Given the description of an element on the screen output the (x, y) to click on. 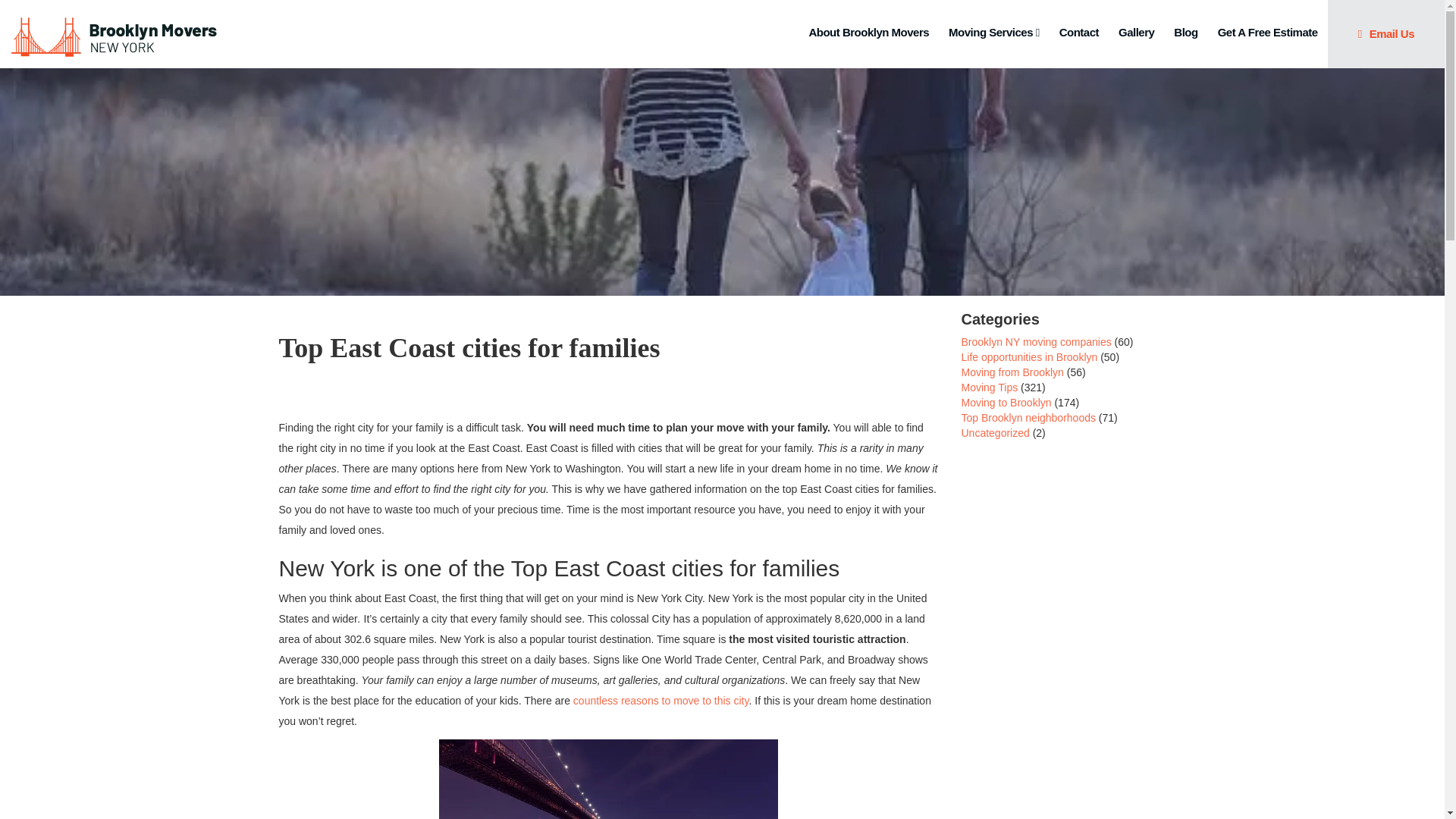
Moving Services (993, 32)
countless reasons to move to this city (661, 700)
Moving to Brooklyn (1005, 402)
About Brooklyn Movers (868, 32)
Moving from Brooklyn (1012, 372)
Moving Services (993, 32)
Moving Tips (988, 387)
Brooklyn NY moving companies (1036, 341)
Get A Free Estimate (1266, 32)
Top Brooklyn neighborhoods (1028, 417)
Uncategorized (994, 432)
Life opportunities in Brooklyn (1028, 357)
Email Us (1386, 33)
About Brooklyn Movers (868, 32)
